Given the description of an element on the screen output the (x, y) to click on. 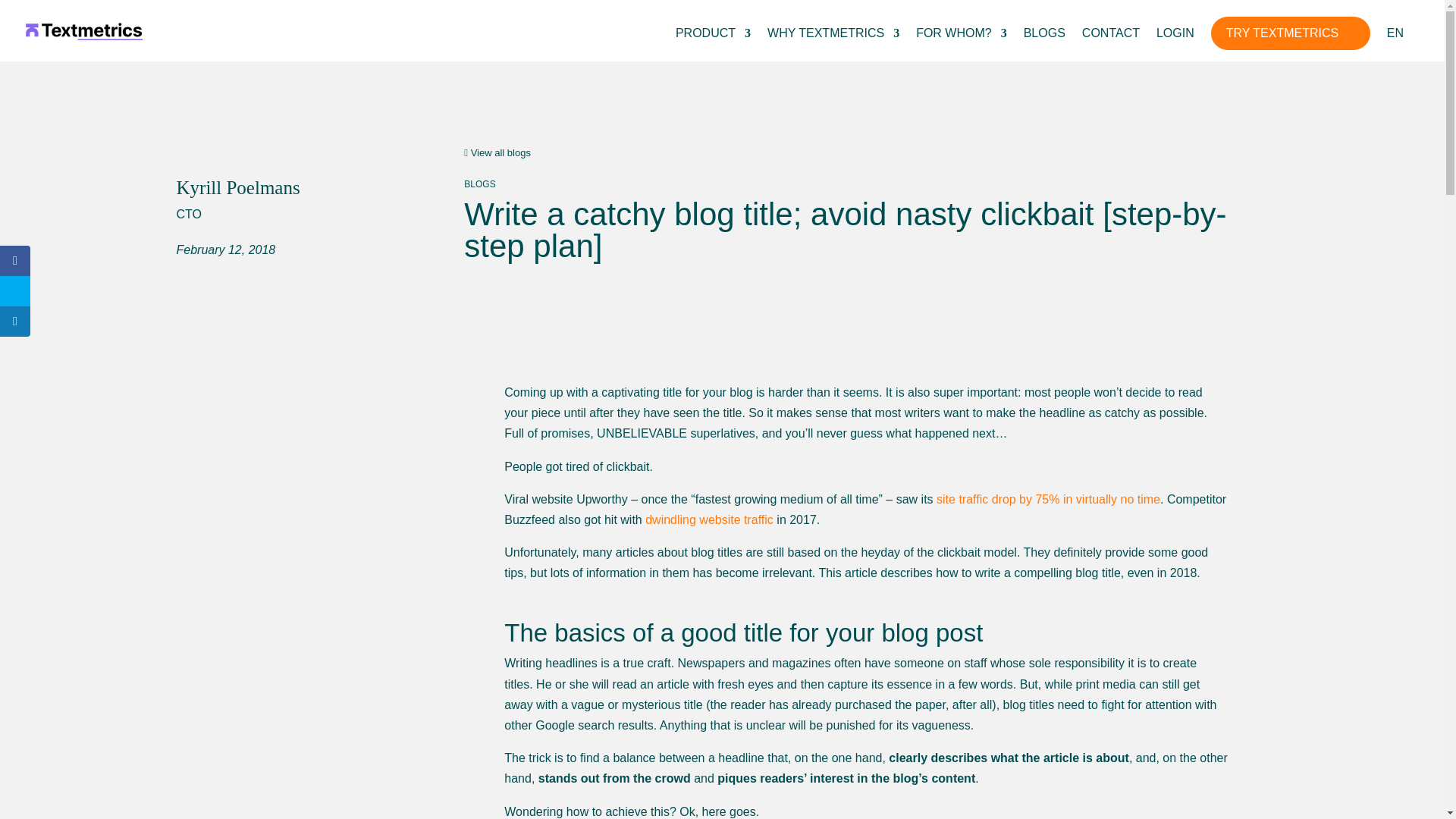
TRY TEXTMETRICS (1290, 32)
PRODUCT (713, 44)
CONTACT (1110, 44)
dwindling website traffic (707, 519)
LOGIN (1174, 44)
Kyrill Poelmans (237, 187)
FOR WHOM? (961, 44)
WHY TEXTMETRICS (833, 44)
BLOGS (1044, 44)
